Given the description of an element on the screen output the (x, y) to click on. 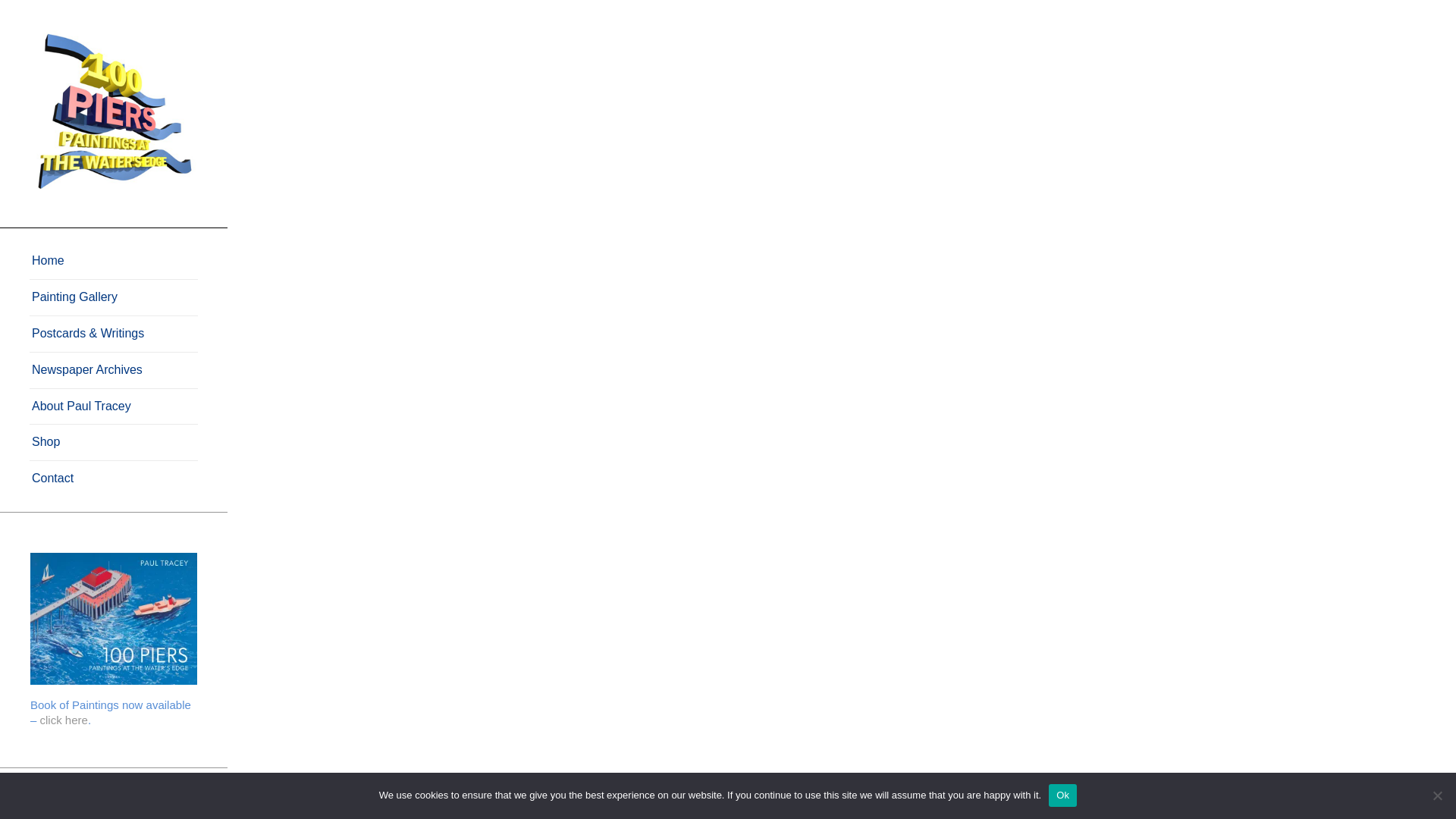
About Paul Tracey (113, 407)
Newspaper Archives (113, 370)
Contact (113, 478)
Painting Gallery (113, 298)
click here (63, 719)
Shop (113, 443)
Home (113, 261)
Ok (1062, 794)
